Given the description of an element on the screen output the (x, y) to click on. 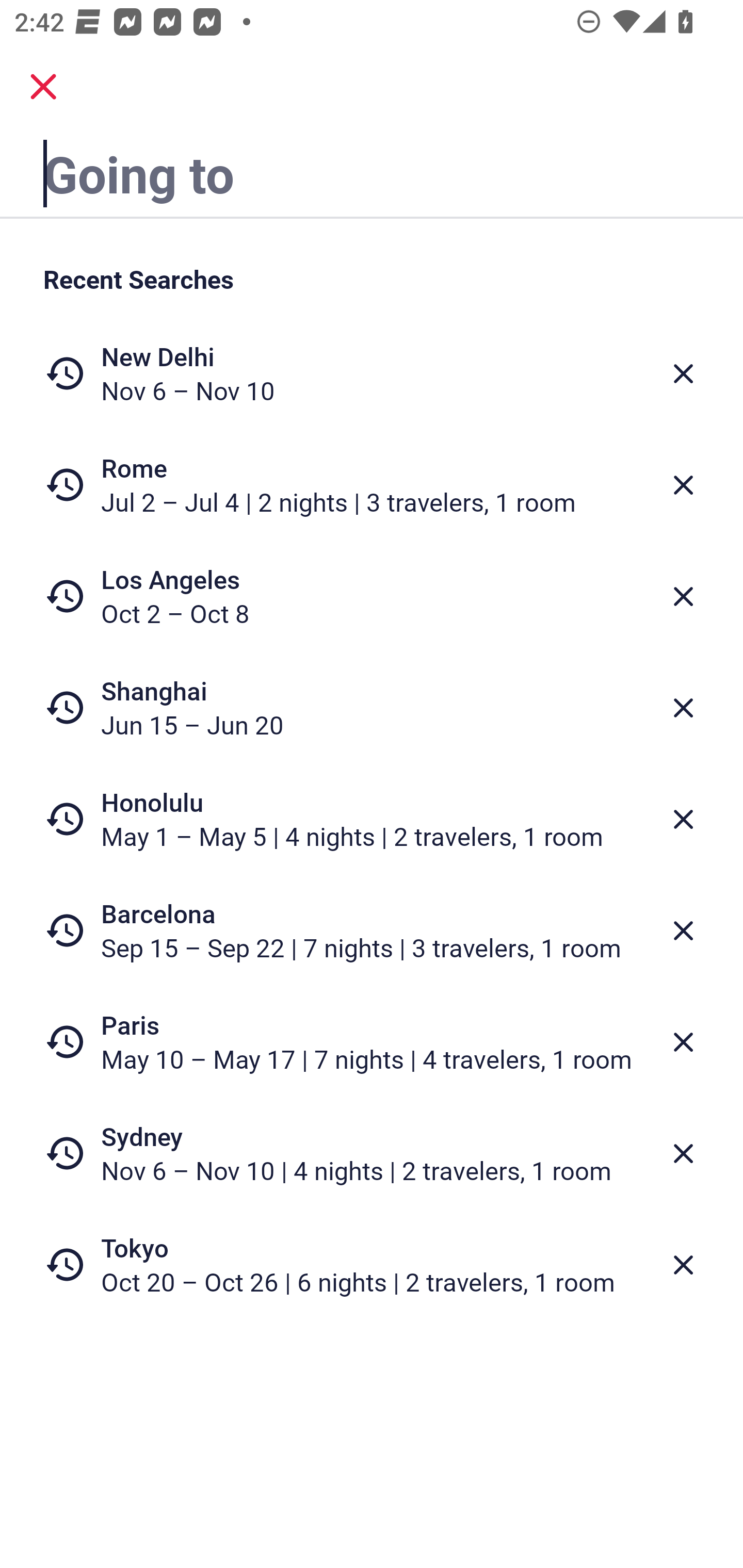
close. (43, 86)
New Delhi Nov 6 – Nov 10 (371, 373)
Delete from recent searches (683, 373)
Delete from recent searches (683, 485)
Los Angeles Oct 2 – Oct 8 (371, 596)
Delete from recent searches (683, 596)
Shanghai Jun 15 – Jun 20 (371, 707)
Delete from recent searches (683, 707)
Delete from recent searches (683, 819)
Delete from recent searches (683, 930)
Delete from recent searches (683, 1041)
Delete from recent searches (683, 1153)
Delete from recent searches (683, 1265)
